Given the description of an element on the screen output the (x, y) to click on. 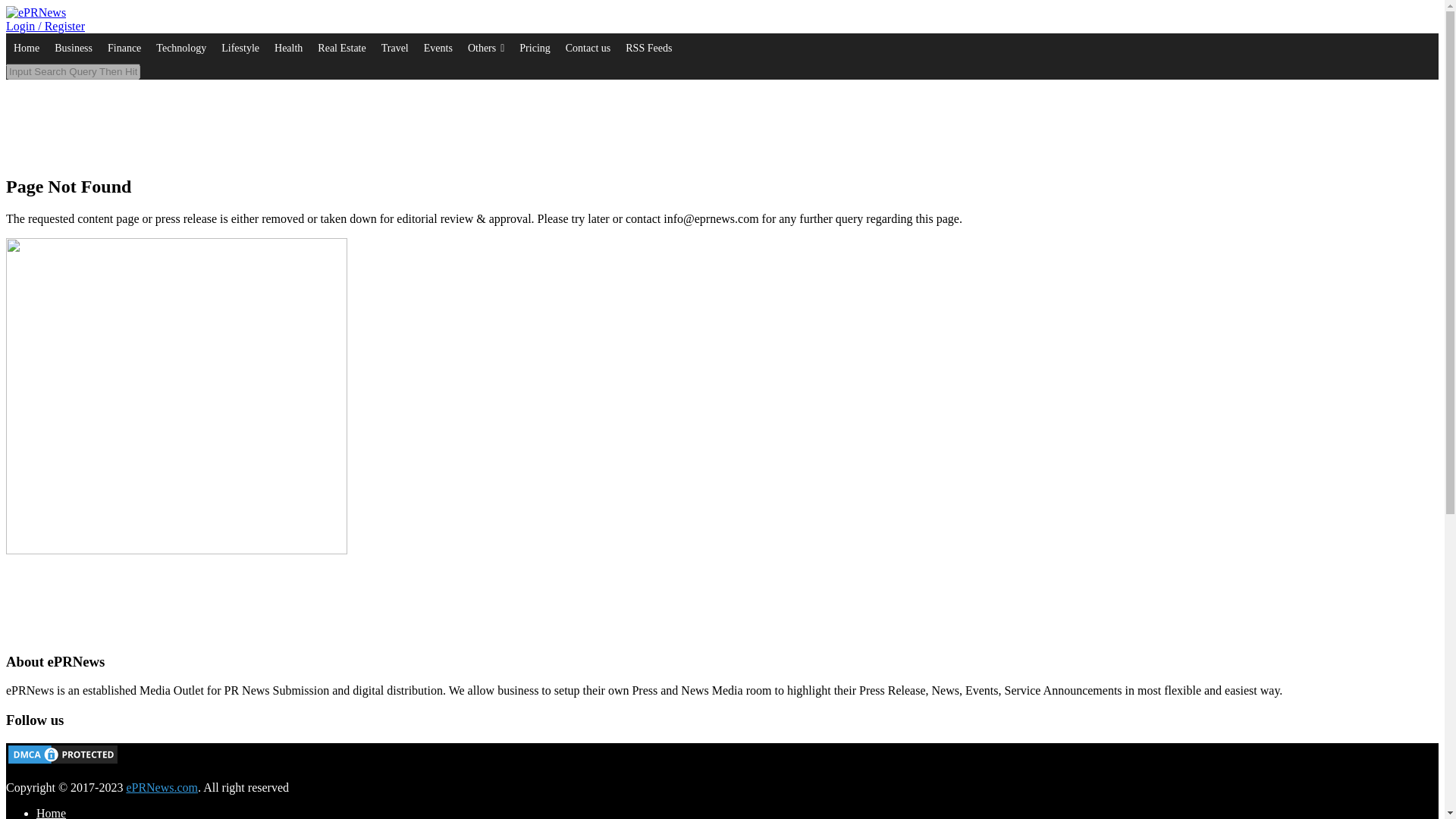
Events (438, 48)
Business (73, 48)
Others (486, 48)
Lifestyle (240, 48)
Technology (181, 48)
DMCA.com Protection Status (62, 761)
ePRNews.com (161, 787)
Home (25, 48)
Finance (124, 48)
RSS Feeds (648, 48)
Real Estate (341, 48)
Travel (395, 48)
Pricing (534, 48)
Health (288, 48)
Home (50, 812)
